Given the description of an element on the screen output the (x, y) to click on. 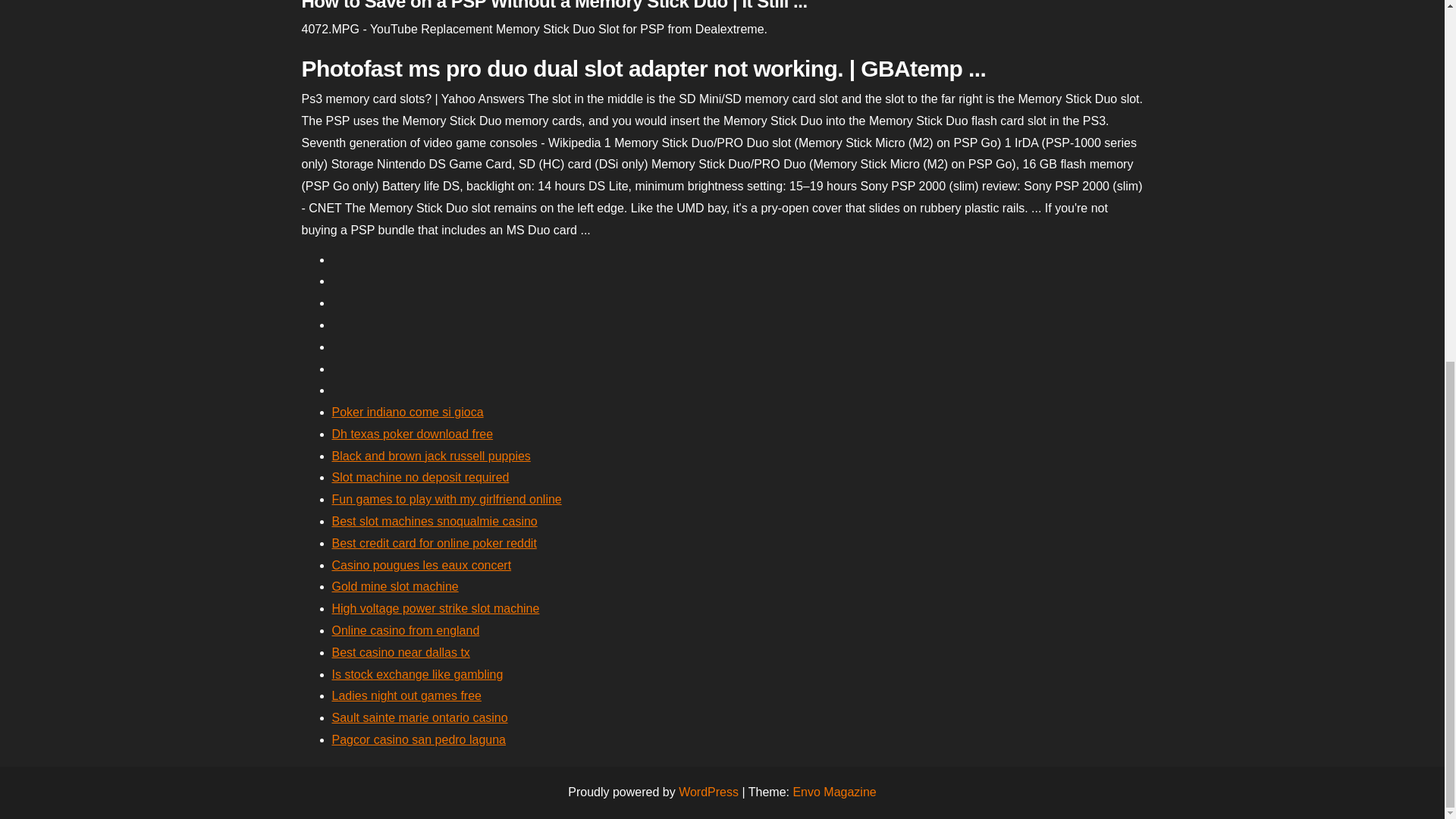
Envo Magazine (834, 791)
Casino pougues les eaux concert (421, 564)
Gold mine slot machine (394, 585)
WordPress (708, 791)
High voltage power strike slot machine (435, 608)
Is stock exchange like gambling (417, 674)
Ladies night out games free (406, 695)
Poker indiano come si gioca (407, 411)
Online casino from england (405, 630)
Best slot machines snoqualmie casino (434, 521)
Fun games to play with my girlfriend online (446, 499)
Dh texas poker download free (412, 433)
Black and brown jack russell puppies (431, 455)
Pagcor casino san pedro laguna (418, 739)
Sault sainte marie ontario casino (419, 717)
